Given the description of an element on the screen output the (x, y) to click on. 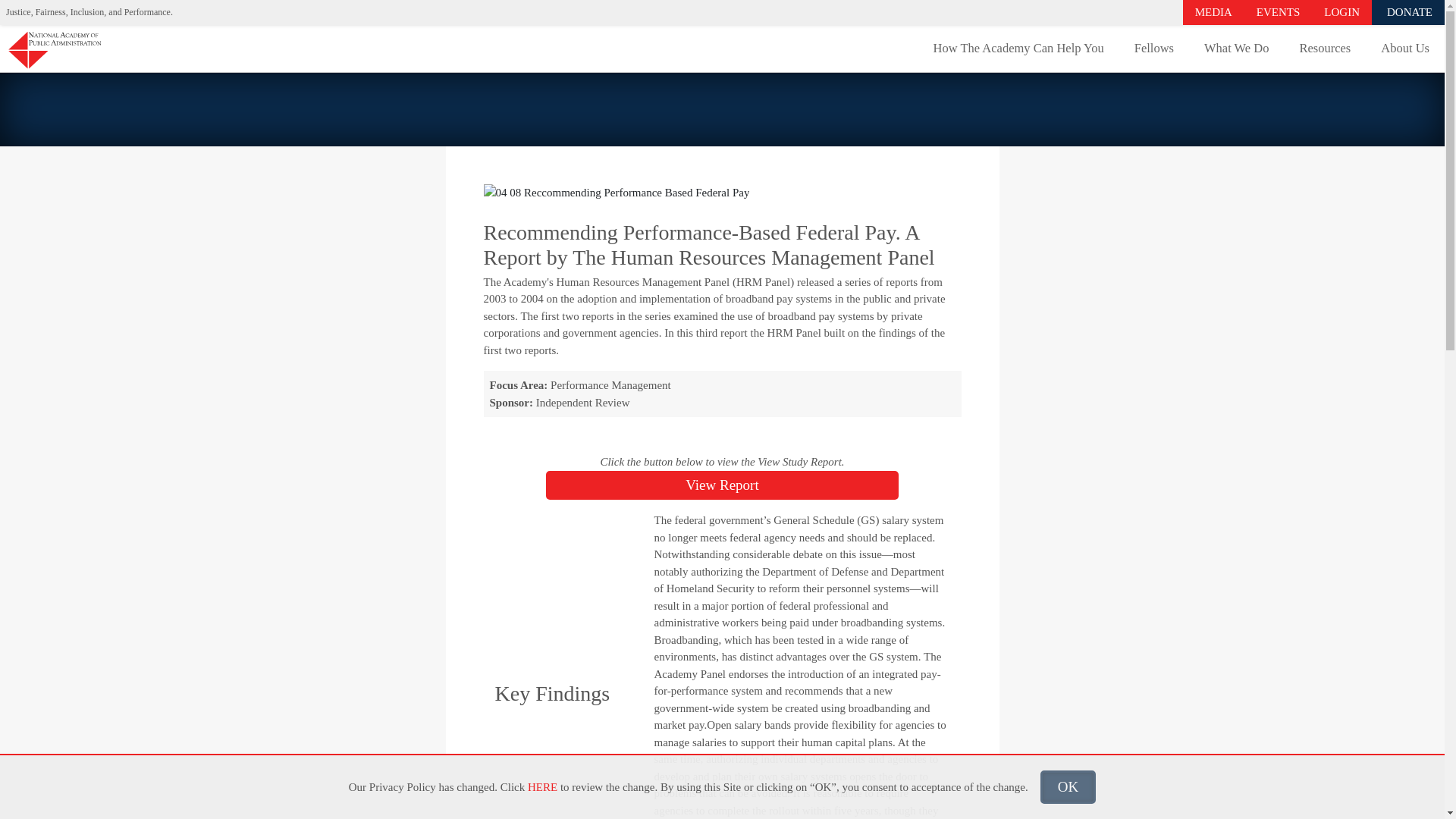
LOGIN (1341, 12)
OK (1068, 787)
View Report (722, 485)
How The Academy Can Help You (1018, 48)
HERE (542, 787)
MEDIA (1213, 12)
What We Do (1236, 48)
Fellows (1154, 48)
EVENTS (1278, 12)
Resources (1324, 48)
